Given the description of an element on the screen output the (x, y) to click on. 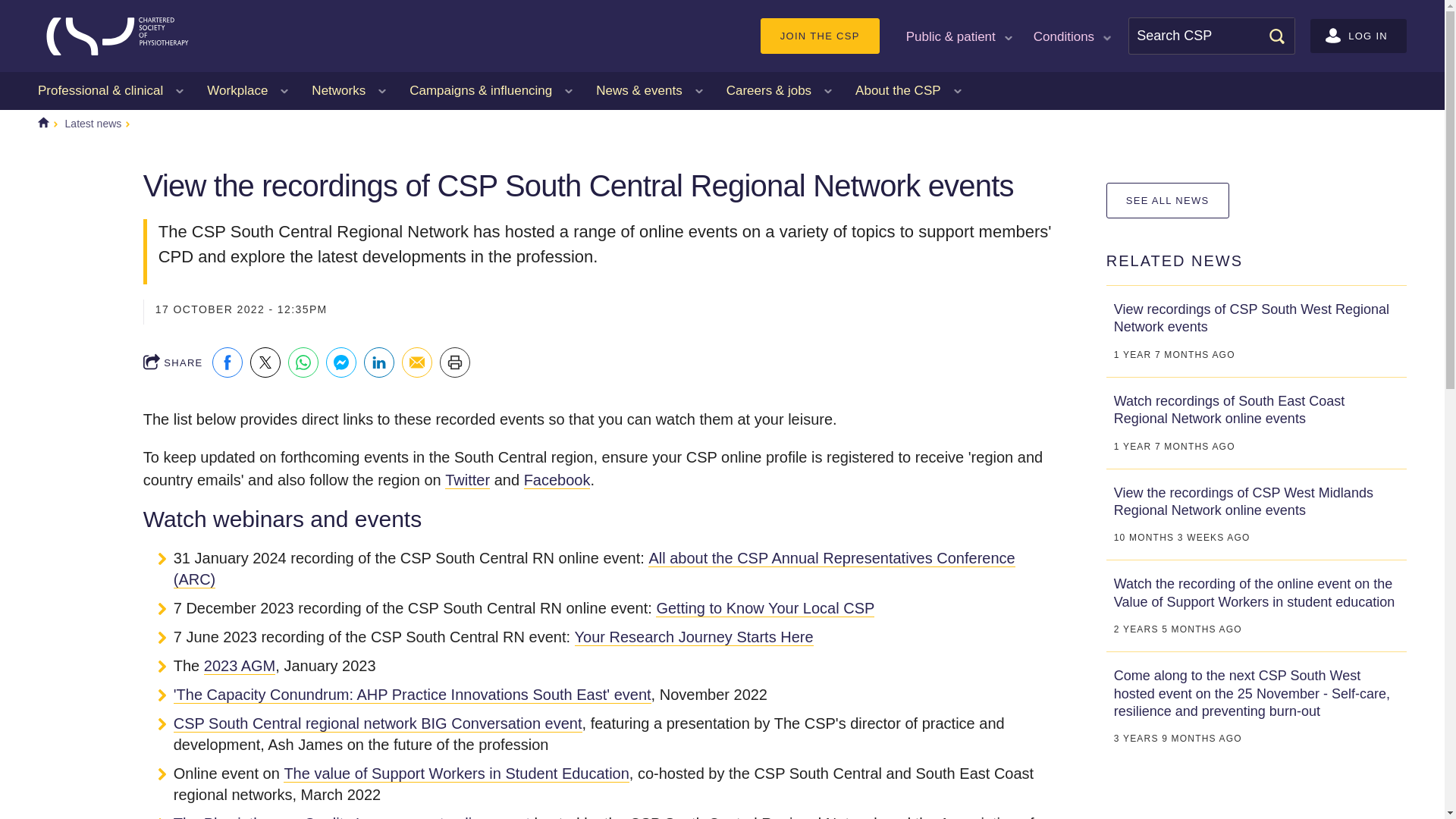
LOG IN (1358, 35)
Facebook (227, 362)
Conditions (1071, 35)
JOIN THE CSP (819, 36)
WhatsApp (303, 362)
Enter the terms you wish to search for. (1211, 35)
Linkedin (379, 362)
Facebook messenger (341, 362)
Email (416, 362)
